Given the description of an element on the screen output the (x, y) to click on. 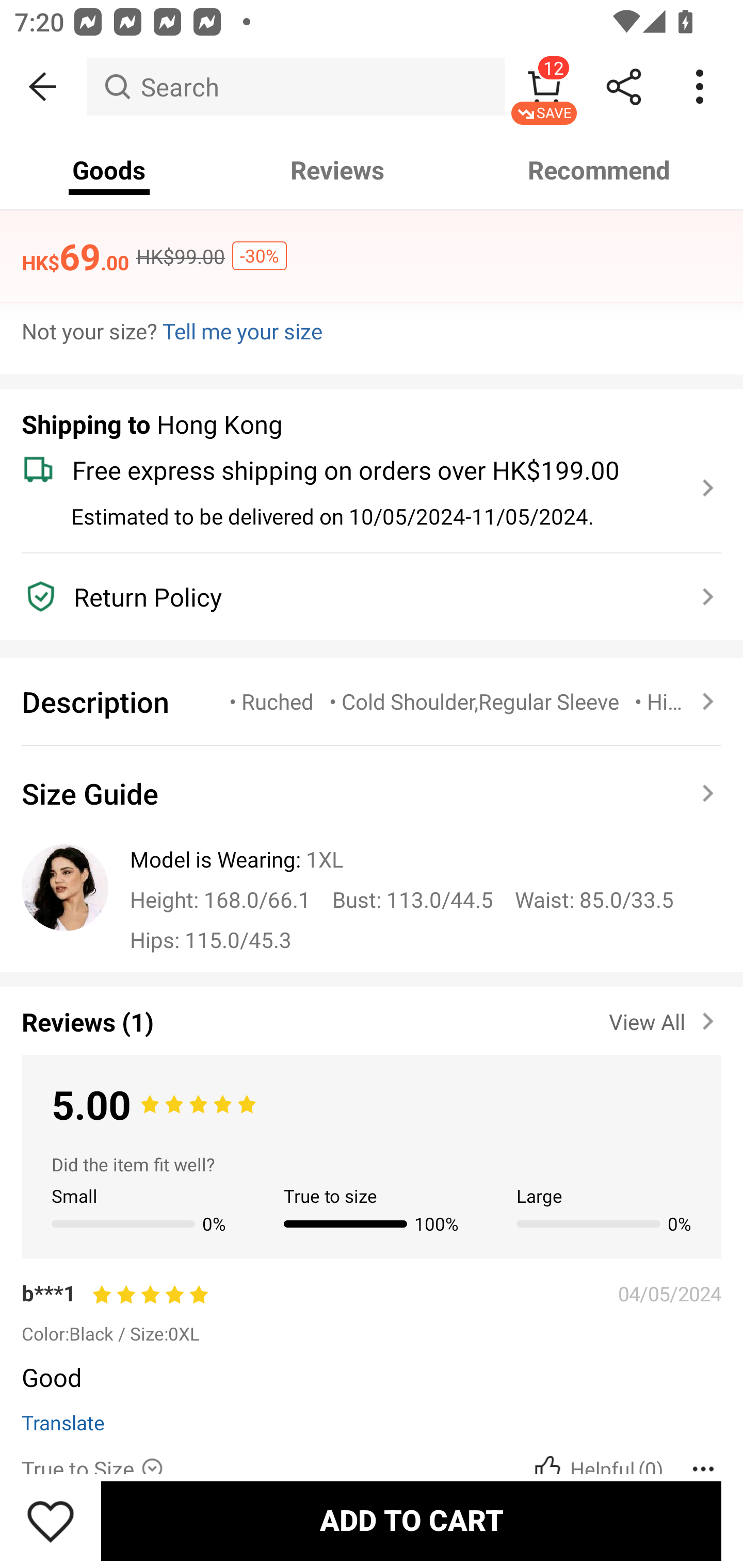
BACK (43, 86)
12 SAVE (543, 87)
Search (295, 87)
Goods (109, 170)
Reviews (337, 170)
Recommend (599, 170)
Not your size? Tell me your size (371, 330)
Return Policy (359, 596)
Size Guide (371, 793)
View All (664, 1018)
Translate (62, 1422)
Cancel Helpful Was this article helpful? (0) (596, 1467)
ADD TO CART (411, 1520)
Save (50, 1520)
